Given the description of an element on the screen output the (x, y) to click on. 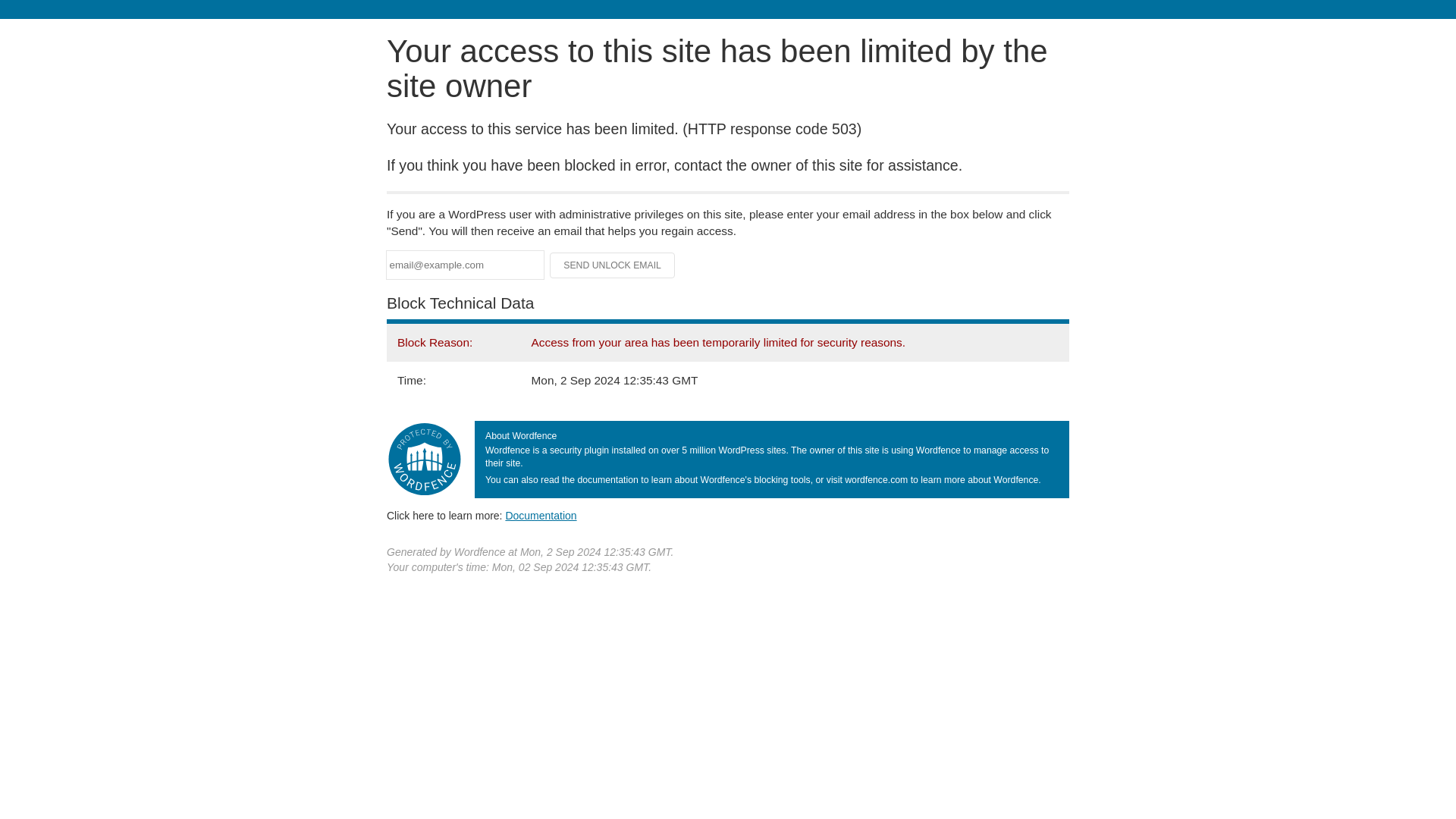
Send Unlock Email (612, 265)
Send Unlock Email (612, 265)
Documentation (540, 515)
